Given the description of an element on the screen output the (x, y) to click on. 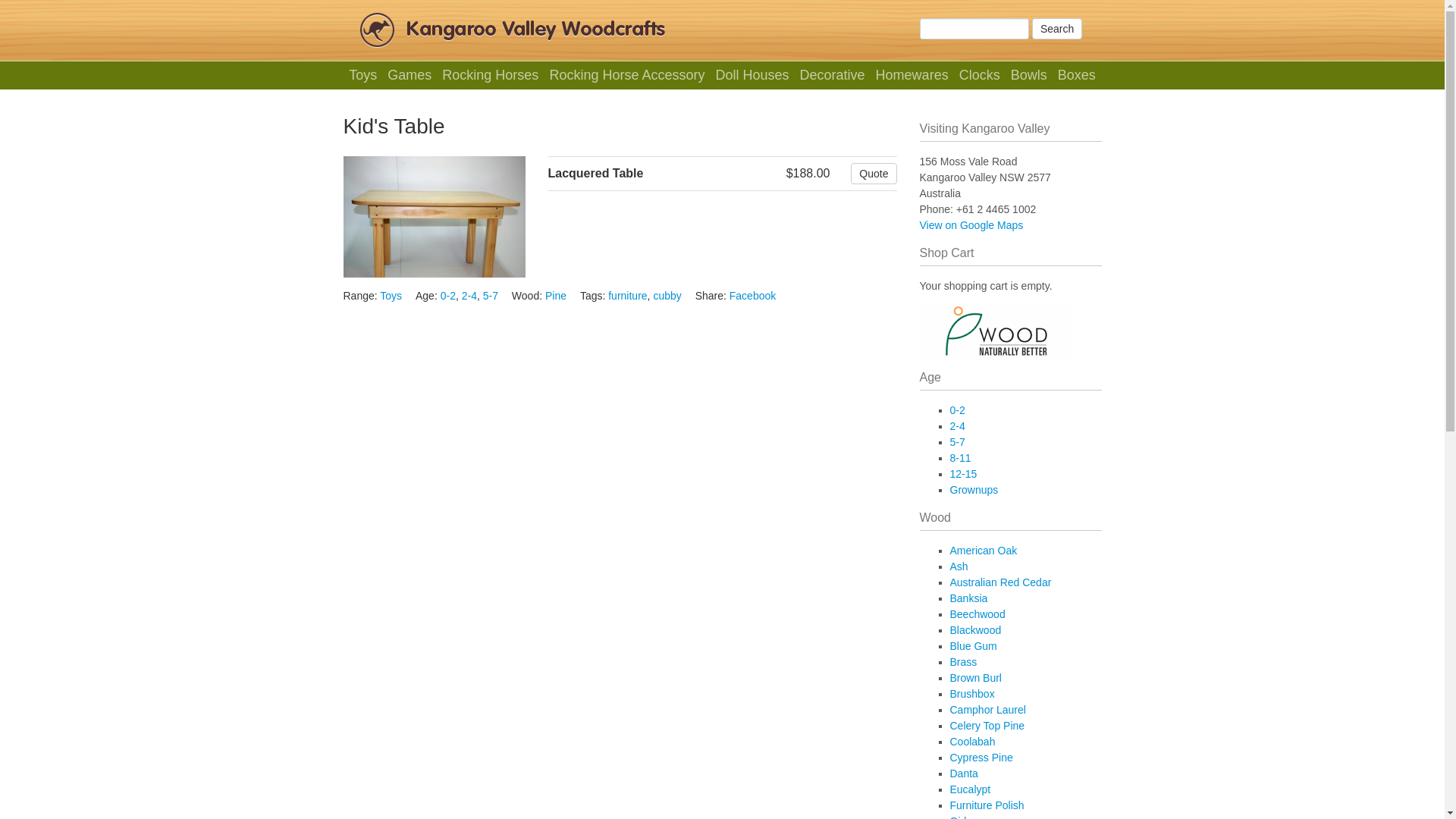
Quote Element type: text (873, 173)
Eucalypt Element type: text (969, 789)
Furniture Polish Element type: text (986, 805)
Beechwood Element type: text (976, 614)
Blue Gum Element type: text (972, 646)
8-11 Element type: text (959, 457)
Rocking Horses Element type: text (490, 75)
Homewares Element type: text (911, 75)
Australian Red Cedar Element type: text (1000, 582)
Coolabah Element type: text (971, 741)
Grownups Element type: text (973, 489)
Camphor Laurel Element type: text (987, 709)
Rocking Horse Accessory Element type: text (627, 75)
Games Element type: text (409, 75)
Ash Element type: text (958, 566)
Boxes Element type: text (1076, 75)
Toys Element type: text (390, 295)
Brown Burl Element type: text (975, 677)
Brushbox Element type: text (971, 693)
Kangaroo Valley Woodcrafts Element type: text (536, 30)
5-7 Element type: text (956, 442)
2-4 Element type: text (956, 426)
Decorative Element type: text (832, 75)
12-15 Element type: text (962, 473)
Blackwood Element type: text (975, 630)
Celery Top Pine Element type: text (986, 725)
Search Element type: text (1057, 28)
0-2 Element type: text (956, 410)
Cypress Pine Element type: text (980, 757)
Doll Houses Element type: text (752, 75)
0-2 Element type: text (447, 295)
View on Google Maps Element type: text (970, 225)
cubby Element type: text (666, 295)
American Oak Element type: text (982, 550)
Banksia Element type: text (968, 598)
furniture Element type: text (627, 295)
Brass Element type: text (962, 661)
Danta Element type: text (963, 773)
Bowls Element type: text (1028, 75)
Pine Element type: text (555, 295)
5-7 Element type: text (490, 295)
Clocks Element type: text (979, 75)
Toys Element type: text (362, 75)
Facebook Element type: text (752, 295)
2-4 Element type: text (468, 295)
